Given the description of an element on the screen output the (x, y) to click on. 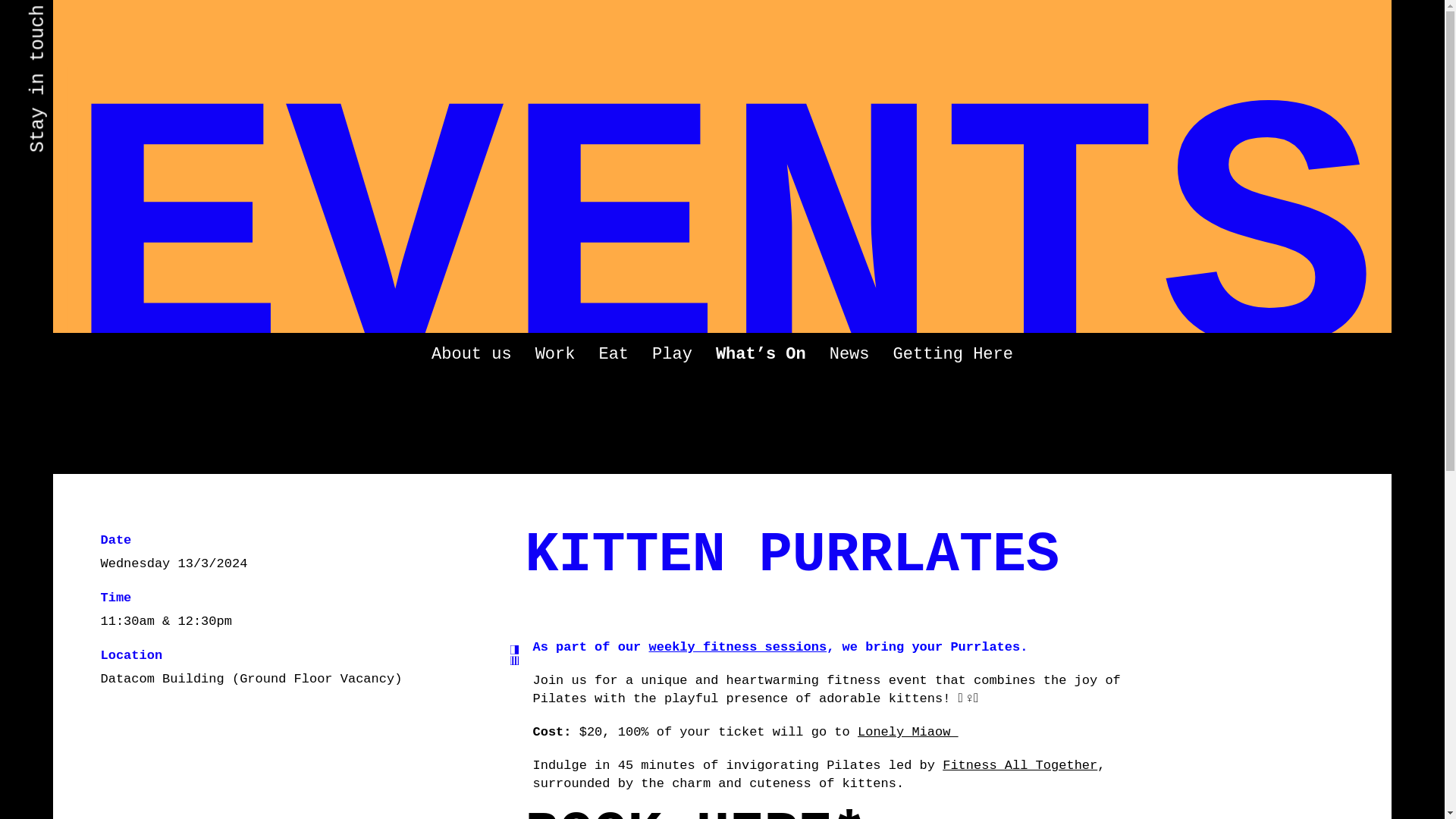
Work (555, 353)
Play (672, 353)
Lonely Miaow  (907, 731)
Eat (613, 353)
News (849, 353)
Getting Here (953, 353)
About us (471, 353)
weekly fitness sessions (738, 646)
Stay in touch (97, 18)
